Given the description of an element on the screen output the (x, y) to click on. 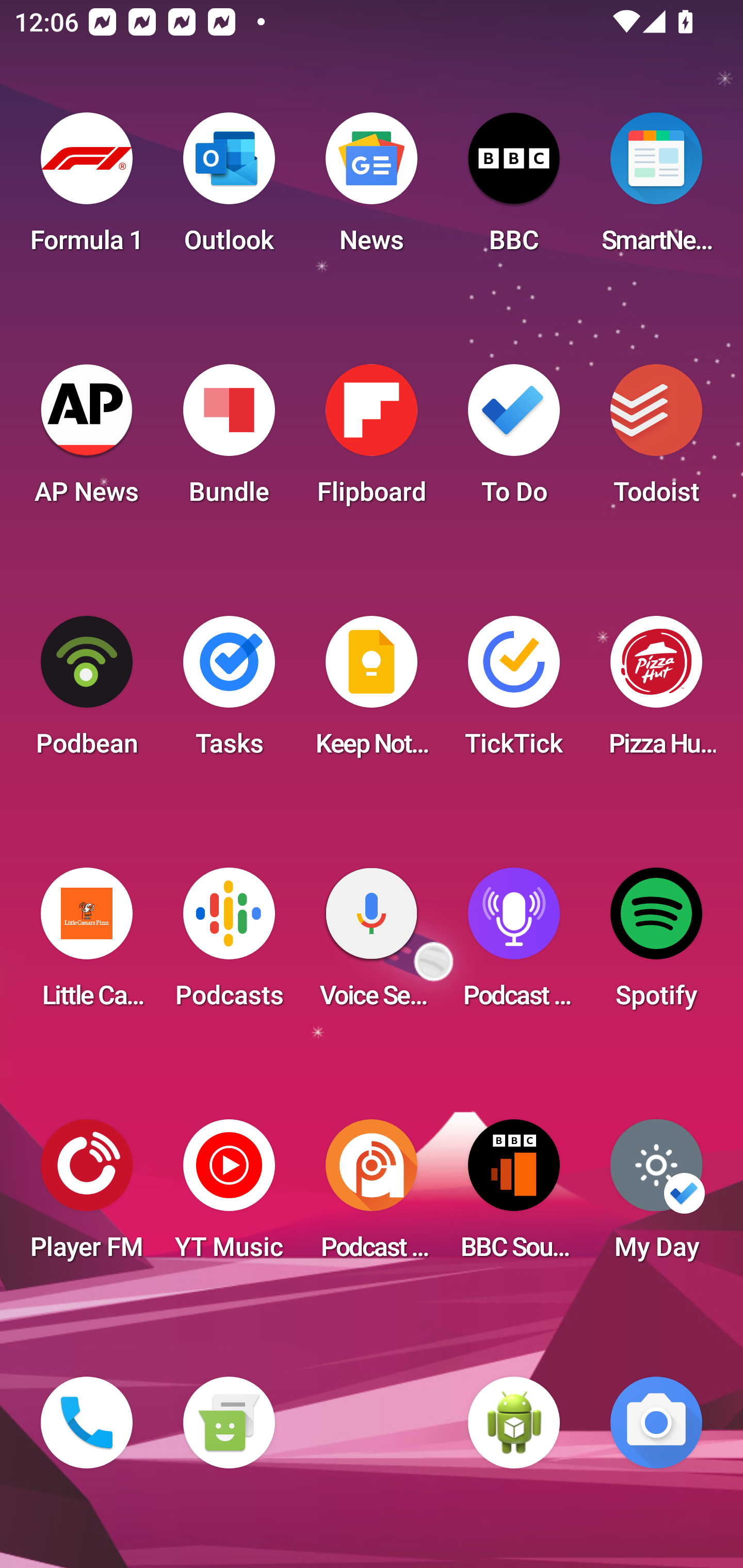
Formula 1 (86, 188)
Outlook (228, 188)
News (371, 188)
BBC (513, 188)
SmartNews (656, 188)
AP News (86, 440)
Bundle (228, 440)
Flipboard (371, 440)
To Do (513, 440)
Todoist (656, 440)
Podbean (86, 692)
Tasks (228, 692)
Keep Notes (371, 692)
TickTick (513, 692)
Pizza Hut HK & Macau (656, 692)
Little Caesars Pizza (86, 943)
Podcasts (228, 943)
Voice Search (371, 943)
Podcast Player (513, 943)
Spotify (656, 943)
Player FM (86, 1195)
YT Music (228, 1195)
Podcast Addict (371, 1195)
BBC Sounds (513, 1195)
My Day (656, 1195)
Phone (86, 1422)
Messaging (228, 1422)
WebView Browser Tester (513, 1422)
Camera (656, 1422)
